Given the description of an element on the screen output the (x, y) to click on. 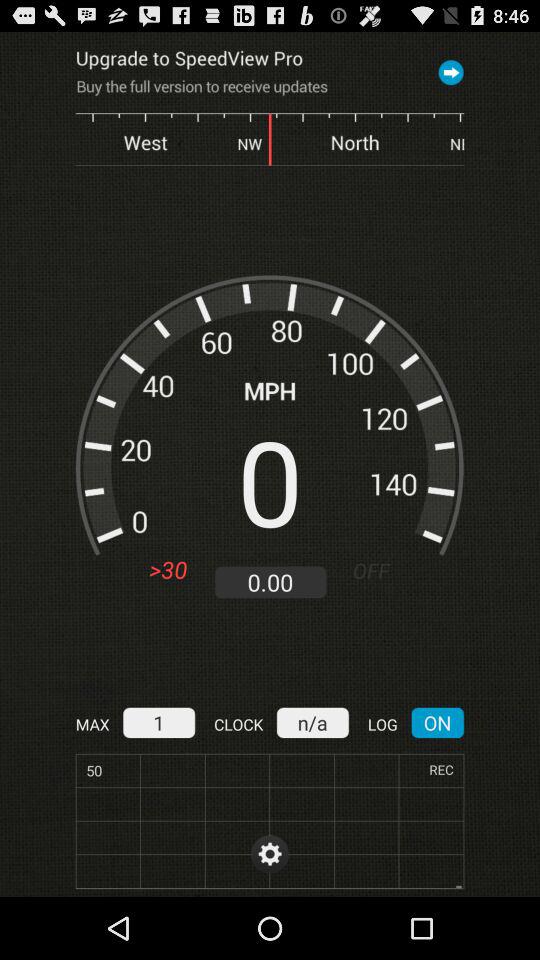
scroll to the 1 icon (158, 722)
